Given the description of an element on the screen output the (x, y) to click on. 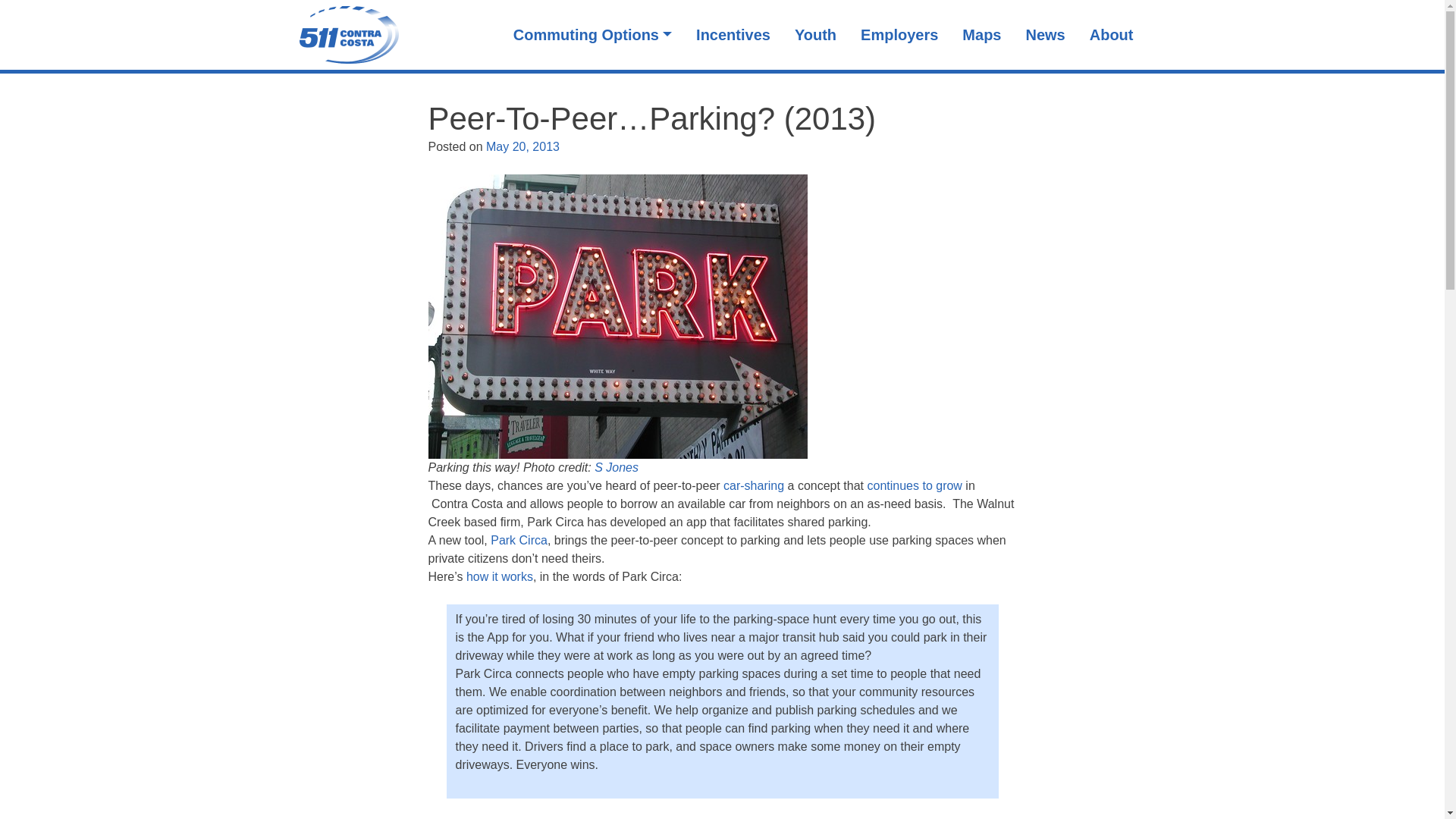
car-sharing (753, 485)
Park Circa (518, 540)
Incentives (733, 34)
News (1045, 34)
continues to grow (914, 485)
Maps (981, 34)
how it works (498, 576)
May 20, 2013 (522, 146)
Employers (899, 34)
About (1111, 34)
Commuting Options (592, 34)
S Jones (615, 467)
Commuting Options (592, 34)
Youth (815, 34)
